Given the description of an element on the screen output the (x, y) to click on. 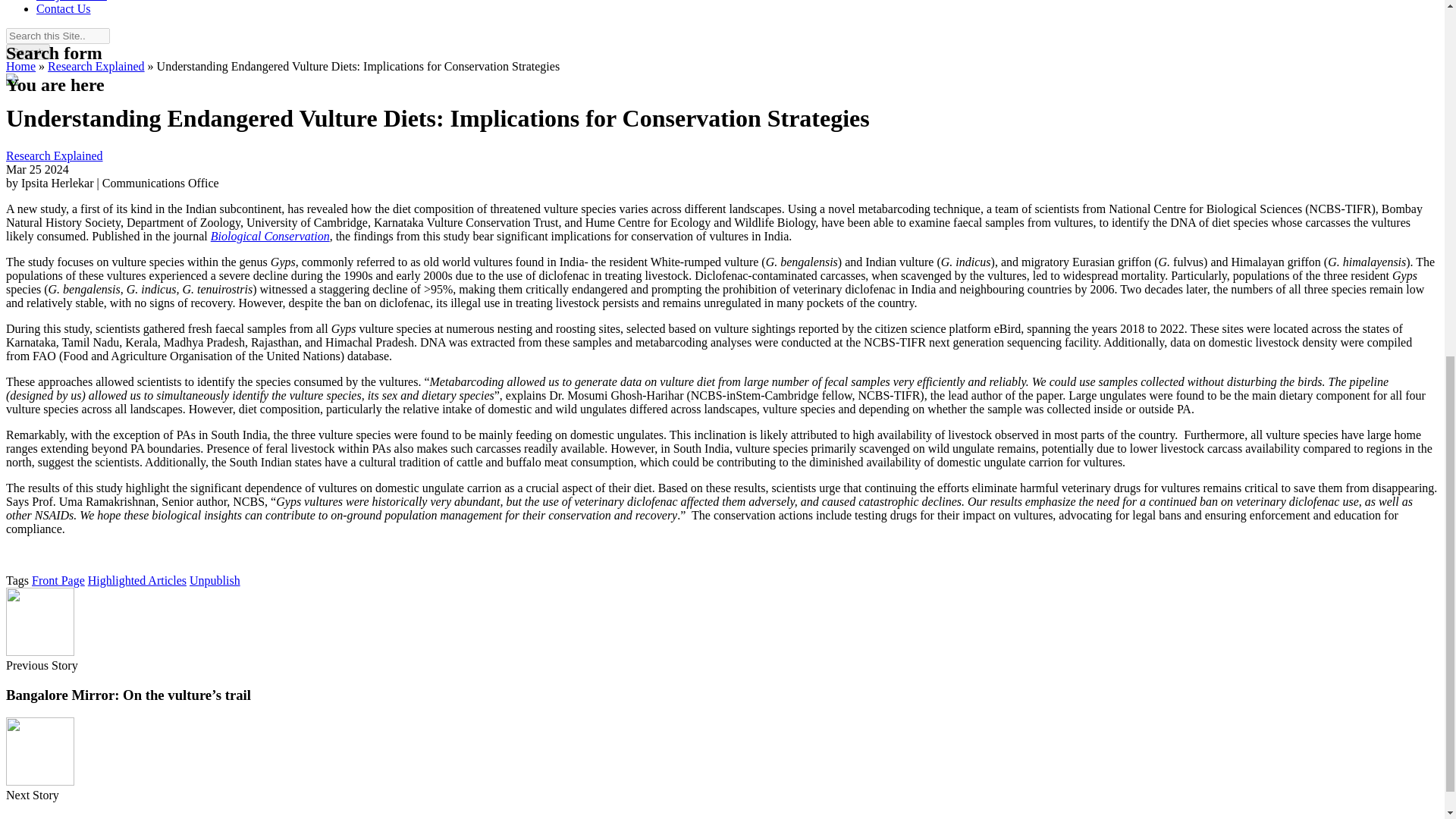
Contact Us (63, 8)
Search (27, 51)
Search (27, 51)
For journalists (71, 0)
Home (19, 65)
Research Explained (96, 65)
Enter the terms you wish to search for. (57, 35)
Research Explained (54, 155)
